Given the description of an element on the screen output the (x, y) to click on. 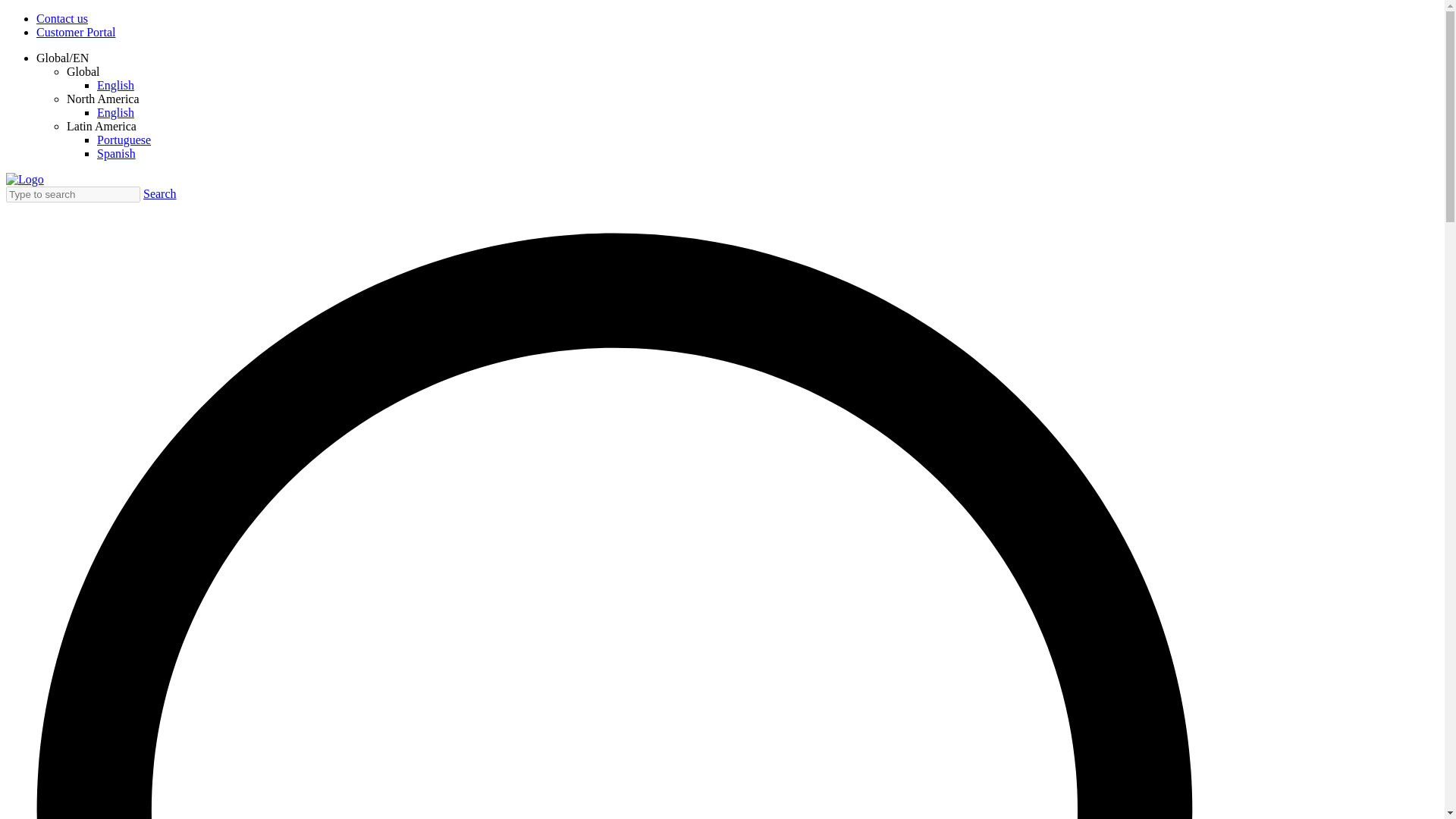
Contact us (61, 18)
Logo (24, 179)
Spanish (116, 153)
English (115, 112)
Customer Portal (75, 31)
English (115, 84)
Customer Portal (75, 31)
Contact us (61, 18)
Portuguese (124, 139)
